Given the description of an element on the screen output the (x, y) to click on. 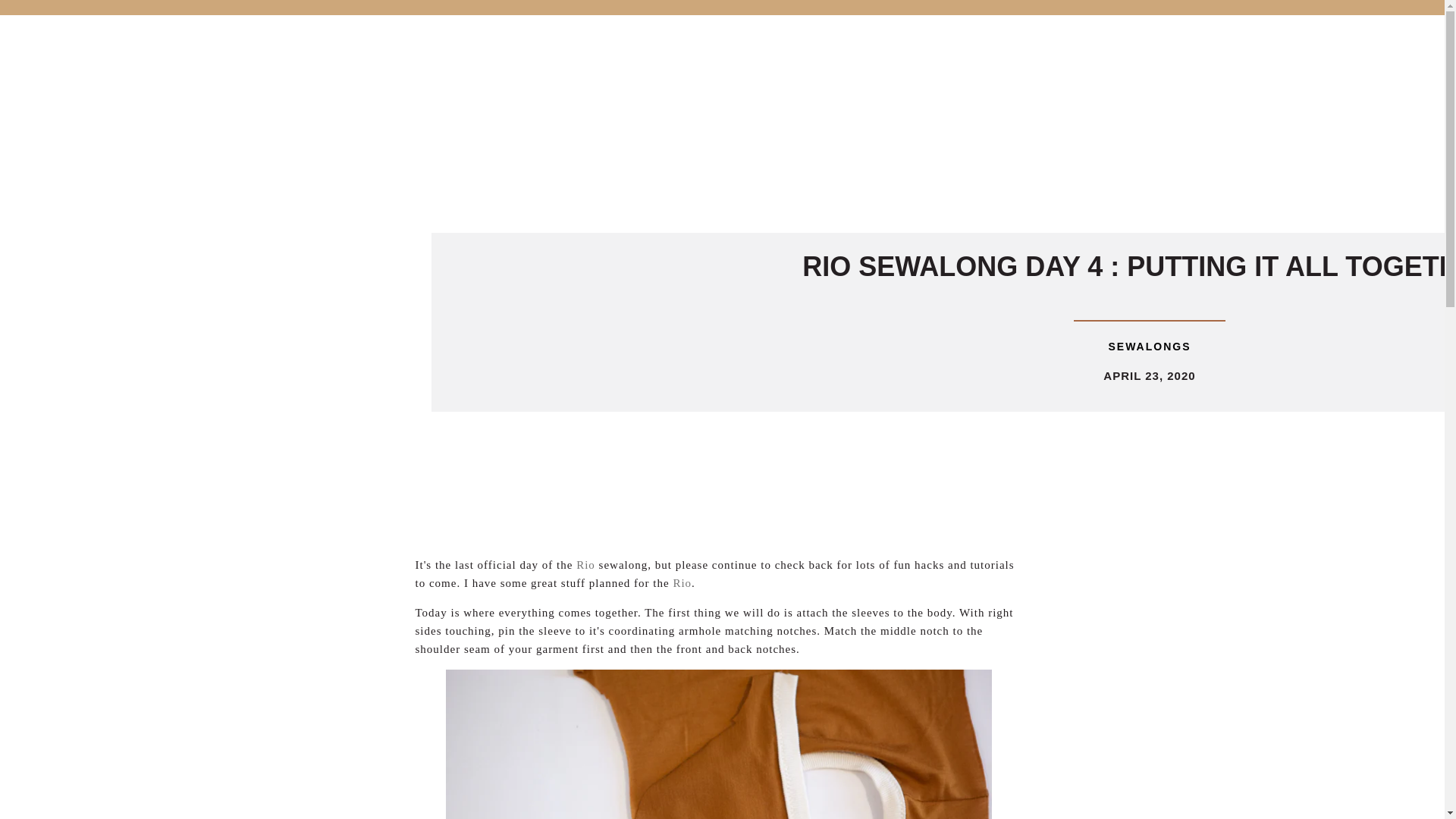
Rio (681, 582)
SEWALONGS (1149, 346)
Rio (585, 564)
